Given the description of an element on the screen output the (x, y) to click on. 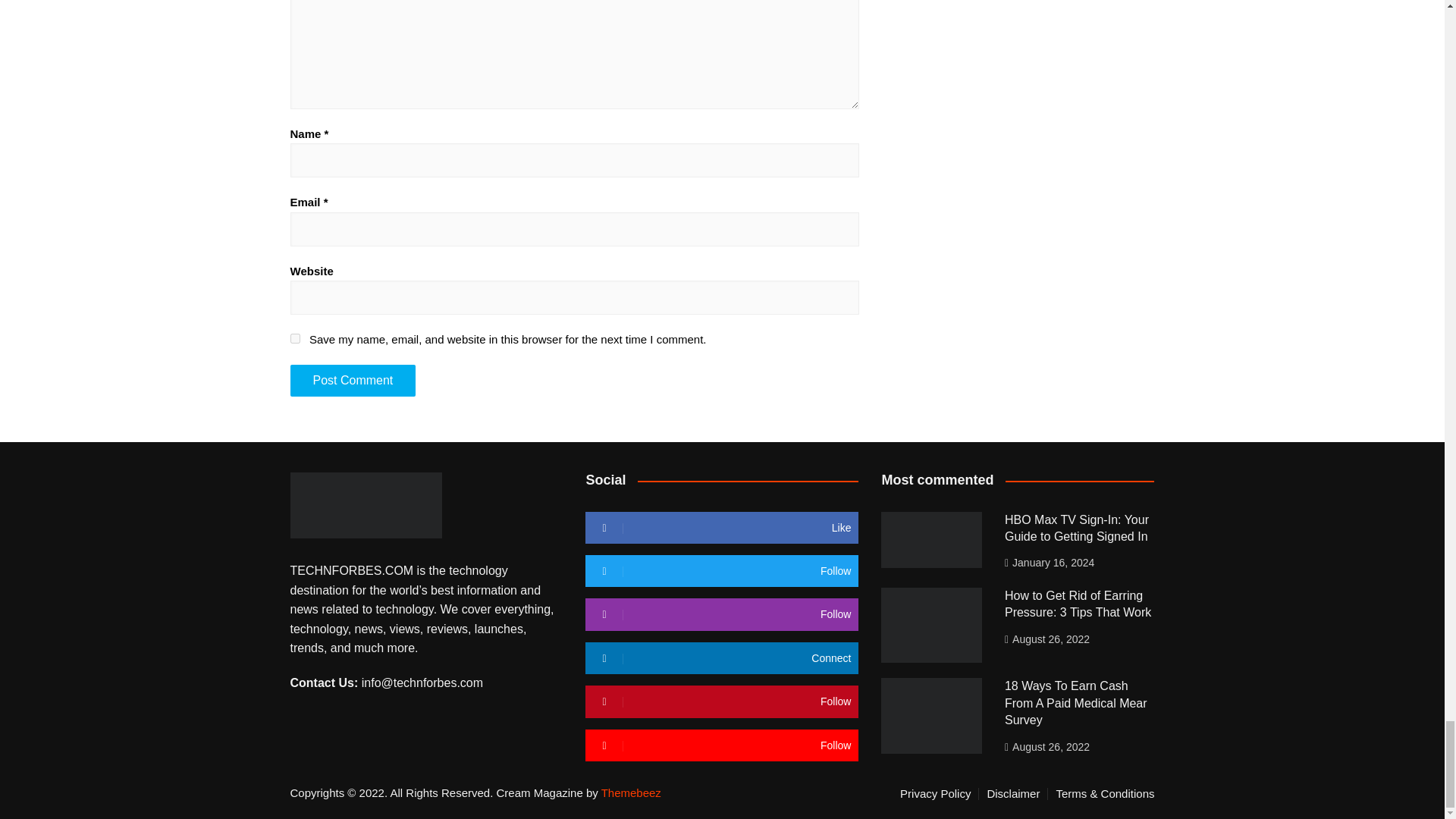
Post Comment (351, 380)
yes (294, 338)
